Given the description of an element on the screen output the (x, y) to click on. 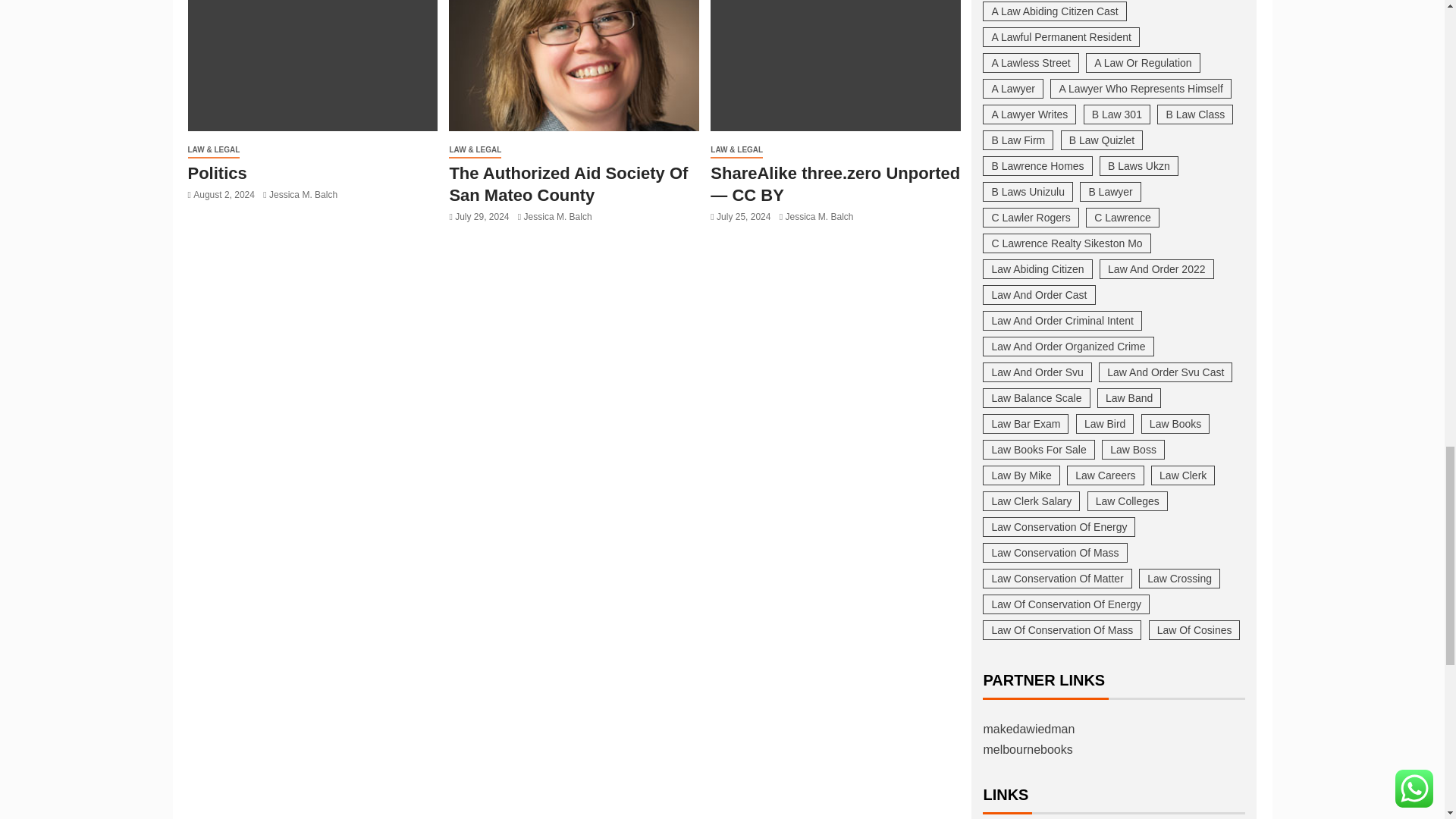
Politics (312, 65)
The Authorized Aid Society Of San Mateo County (573, 65)
